Given the description of an element on the screen output the (x, y) to click on. 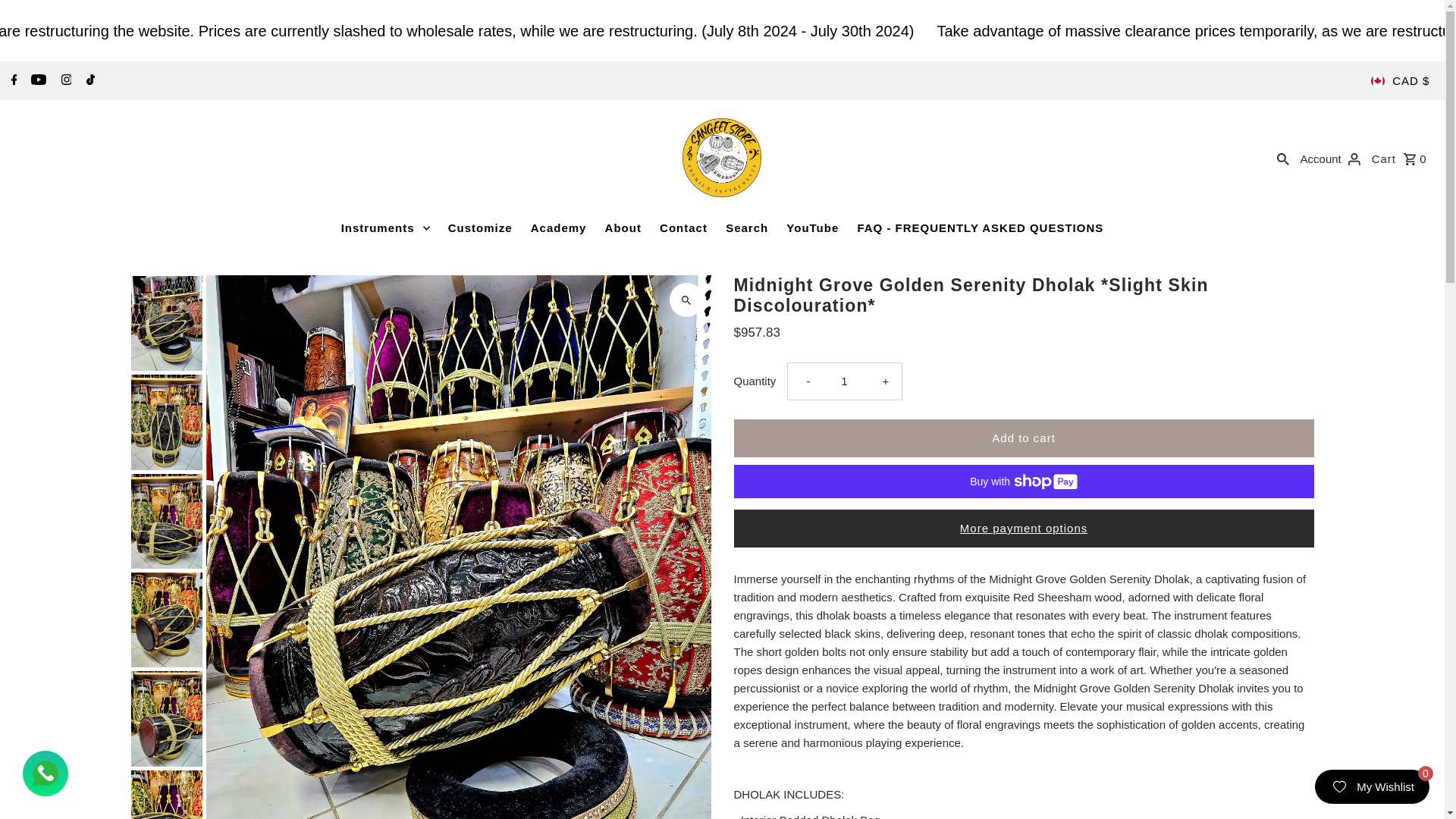
Click to zoom (685, 299)
1 (844, 381)
Skip to content (58, 18)
Add to cart (1023, 438)
